Given the description of an element on the screen output the (x, y) to click on. 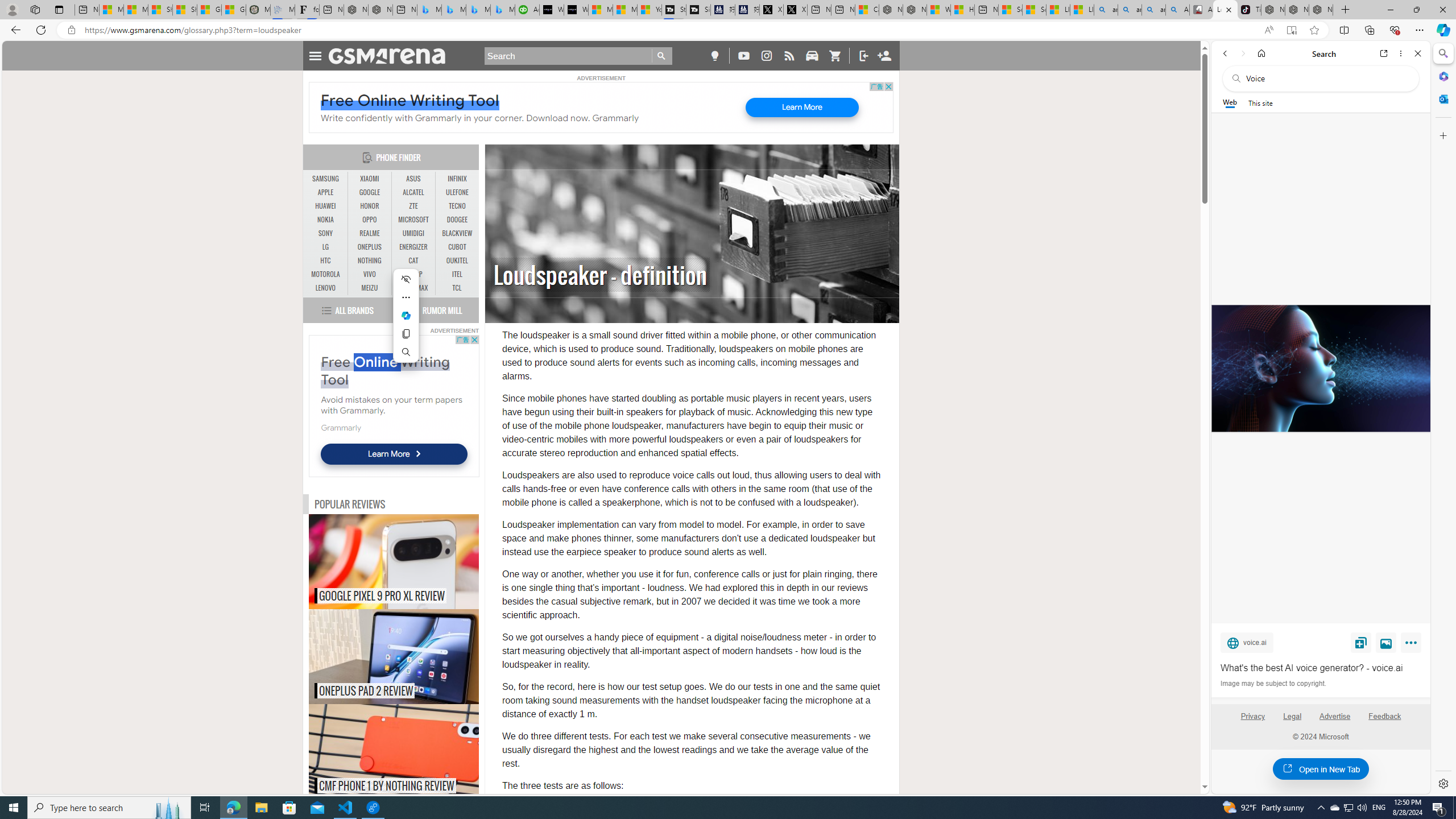
Accounting Software for Accountants, CPAs and Bookkeepers (526, 9)
Legal (1291, 715)
Microsoft Bing Travel - Shangri-La Hotel Bangkok (502, 9)
Huge shark washes ashore at New York City beach | Watch (962, 9)
ASUS (413, 178)
XIAOMI (369, 178)
Customize (1442, 135)
Search the web (1326, 78)
Address and search bar (669, 29)
OPPO (369, 219)
